Given the description of an element on the screen output the (x, y) to click on. 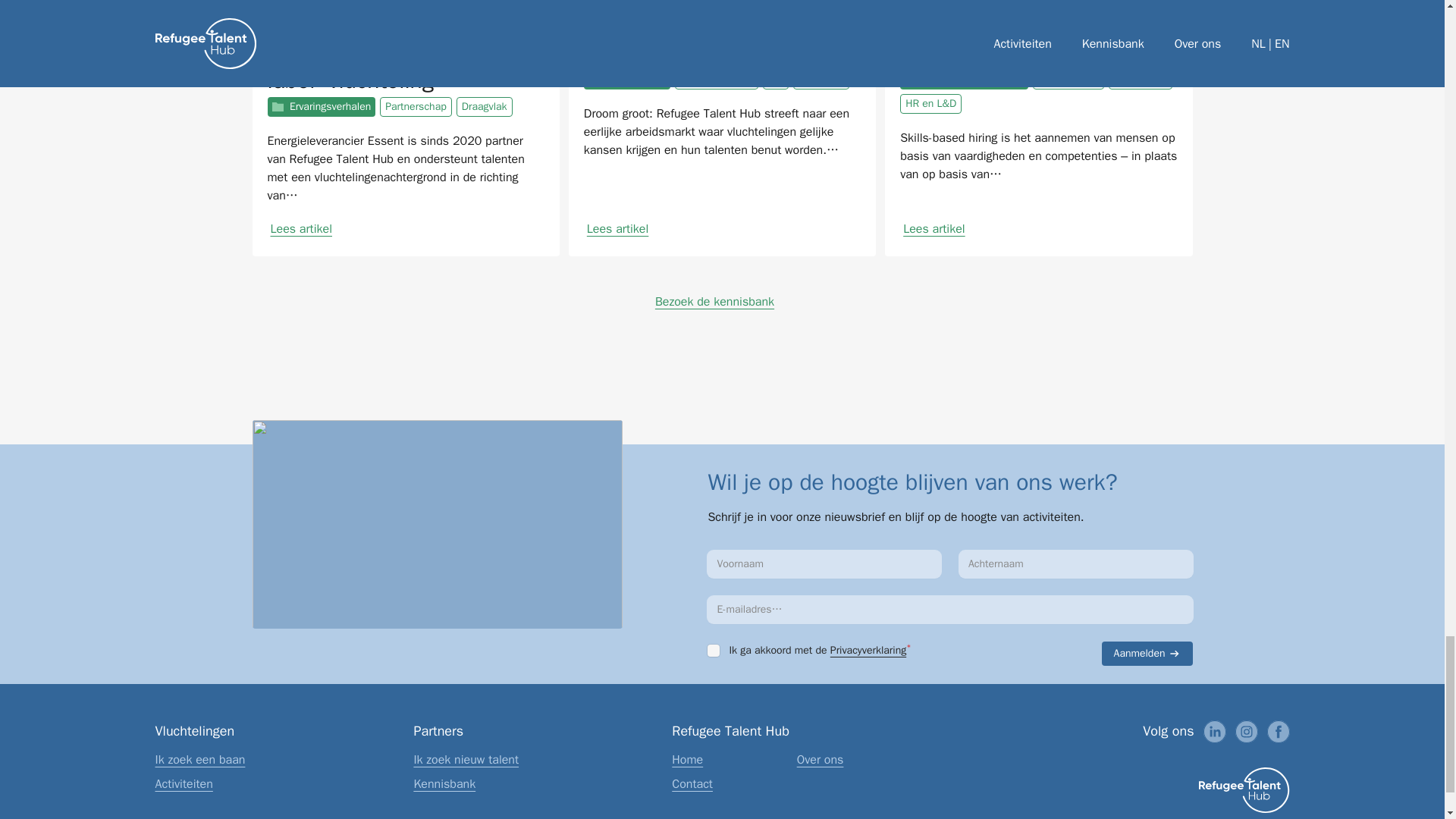
on (713, 650)
